Given the description of an element on the screen output the (x, y) to click on. 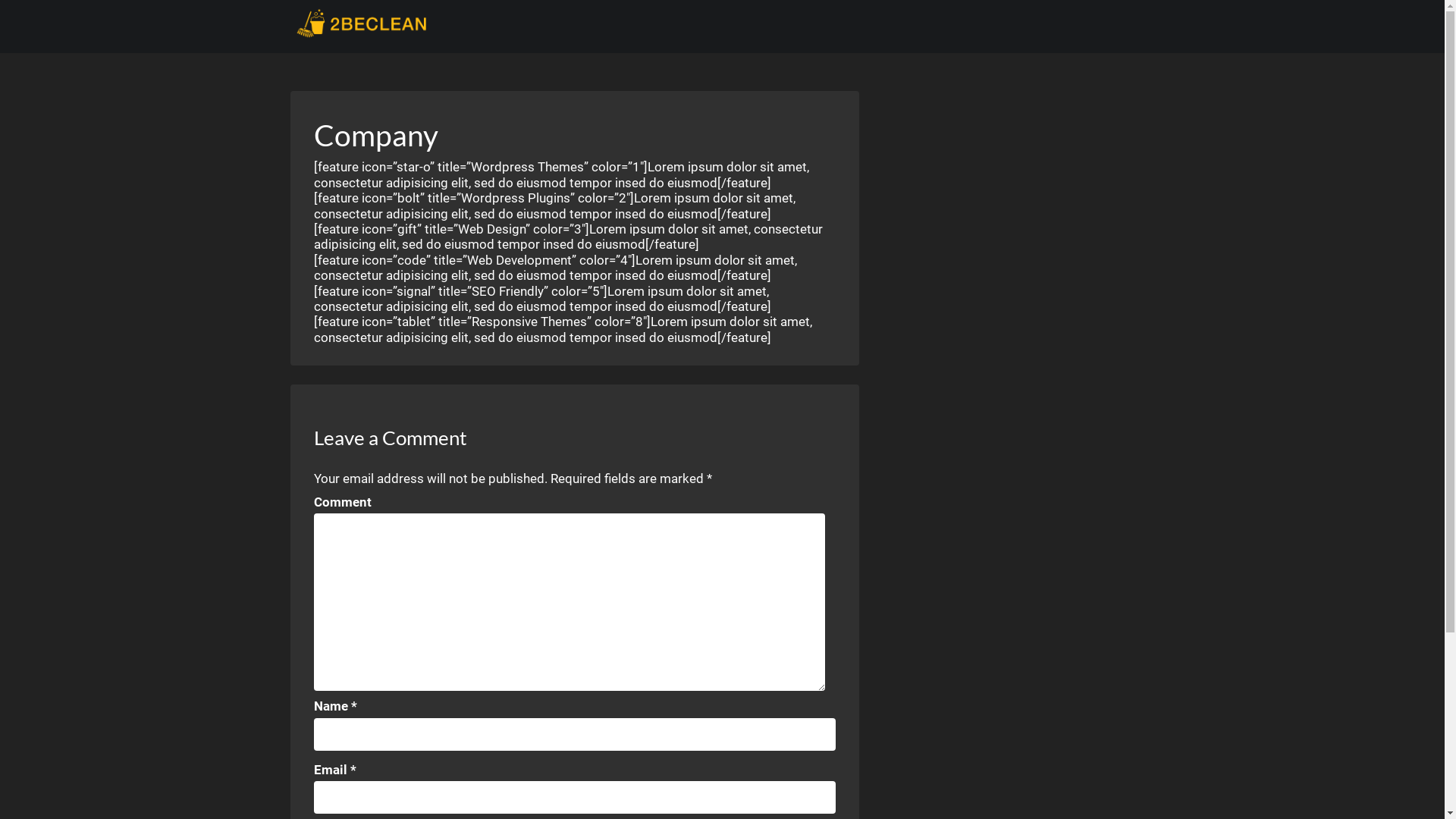
2beClean.com Element type: hover (362, 22)
